Given the description of an element on the screen output the (x, y) to click on. 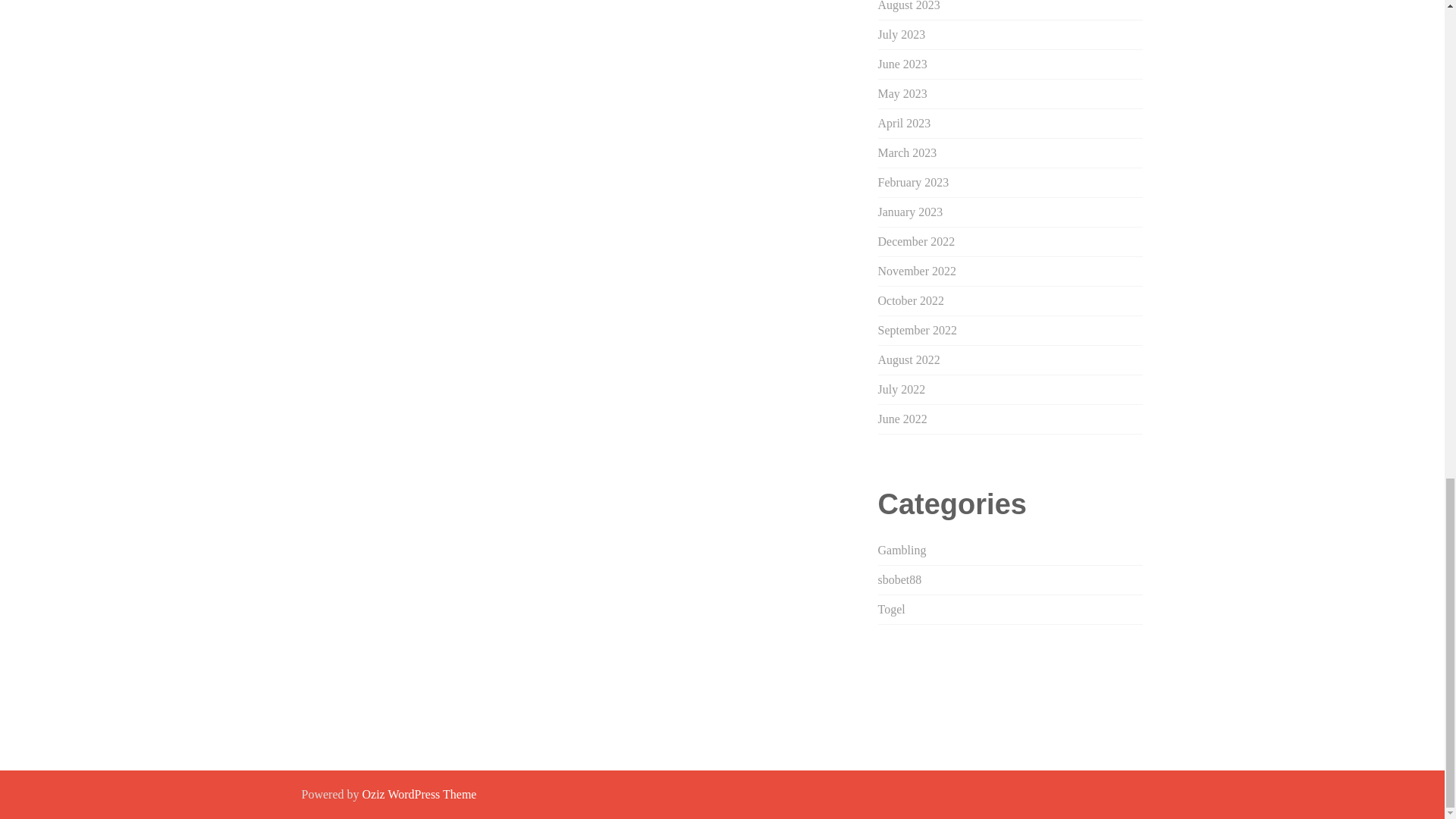
September 2022 (916, 329)
December 2022 (916, 241)
November 2022 (916, 270)
June 2023 (902, 63)
March 2023 (907, 152)
January 2023 (910, 211)
July 2023 (901, 33)
August 2023 (908, 5)
February 2023 (913, 182)
October 2022 (910, 300)
May 2023 (902, 92)
April 2023 (904, 123)
